Given the description of an element on the screen output the (x, y) to click on. 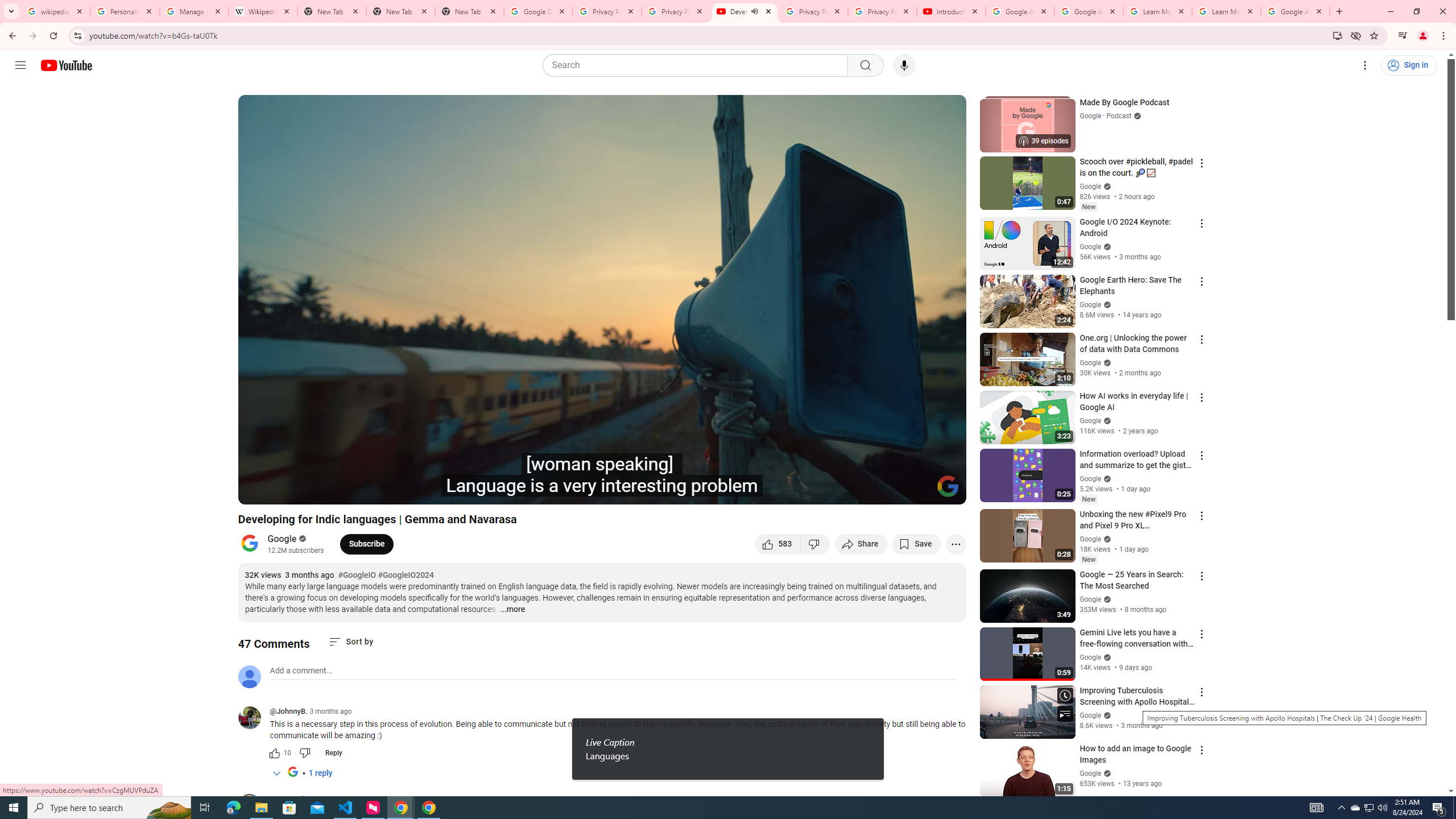
Sort comments (350, 641)
#GoogleIO2024 (405, 575)
AutomationID: simplebox-placeholder (301, 670)
1 reply (320, 773)
@gamarsh1960 (253, 805)
Google Account Help (1088, 11)
